Given the description of an element on the screen output the (x, y) to click on. 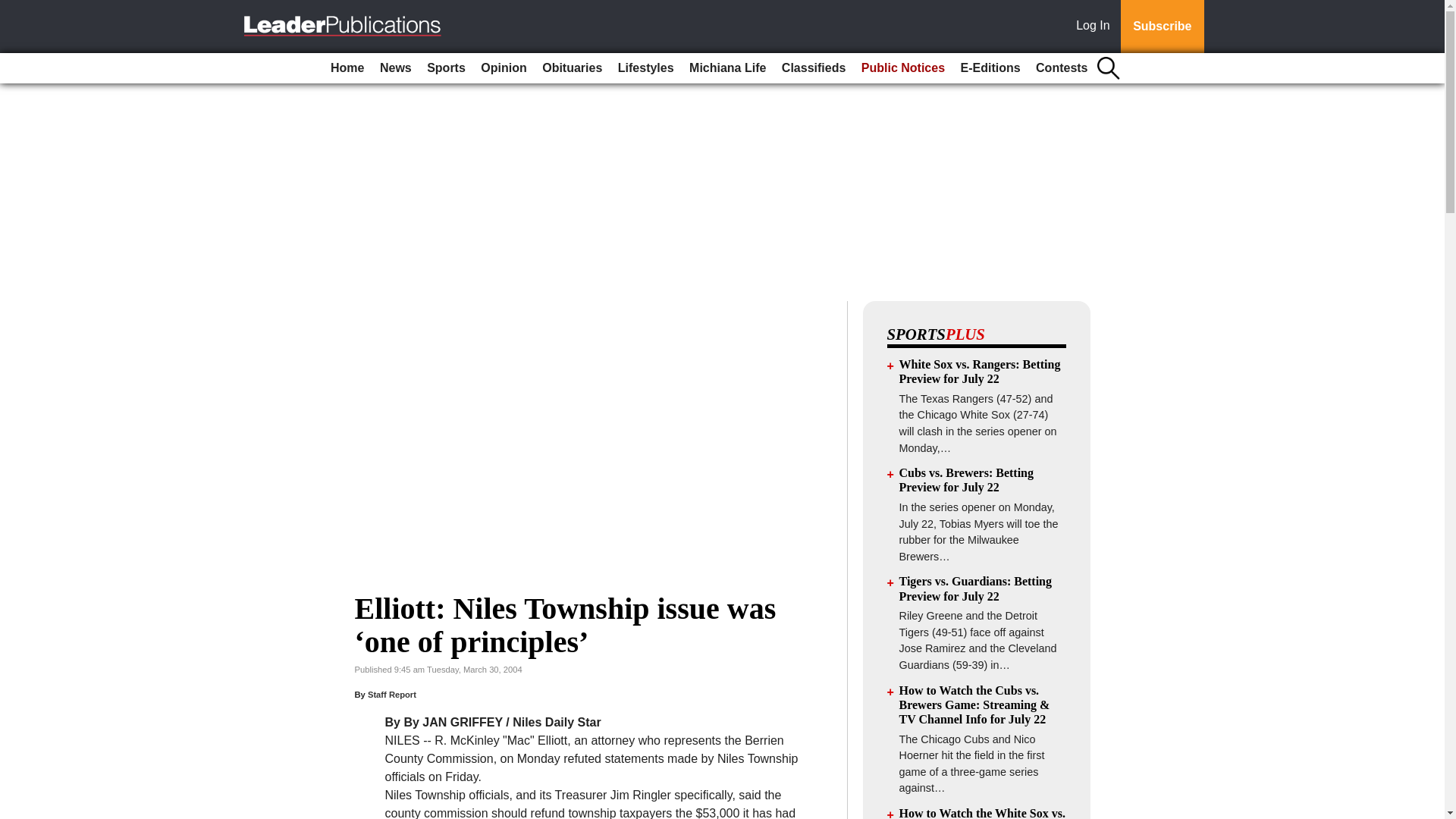
News (395, 68)
Lifestyles (645, 68)
Log In (1095, 26)
Cubs vs. Brewers: Betting Preview for July 22 (966, 479)
Obituaries (571, 68)
Sports (445, 68)
White Sox vs. Rangers: Betting Preview for July 22 (980, 370)
Contests (1061, 68)
Opinion (503, 68)
Classifieds (813, 68)
Michiana Life (726, 68)
Subscribe (1162, 26)
Go (13, 9)
E-Editions (989, 68)
Tigers vs. Guardians: Betting Preview for July 22 (975, 587)
